Given the description of an element on the screen output the (x, y) to click on. 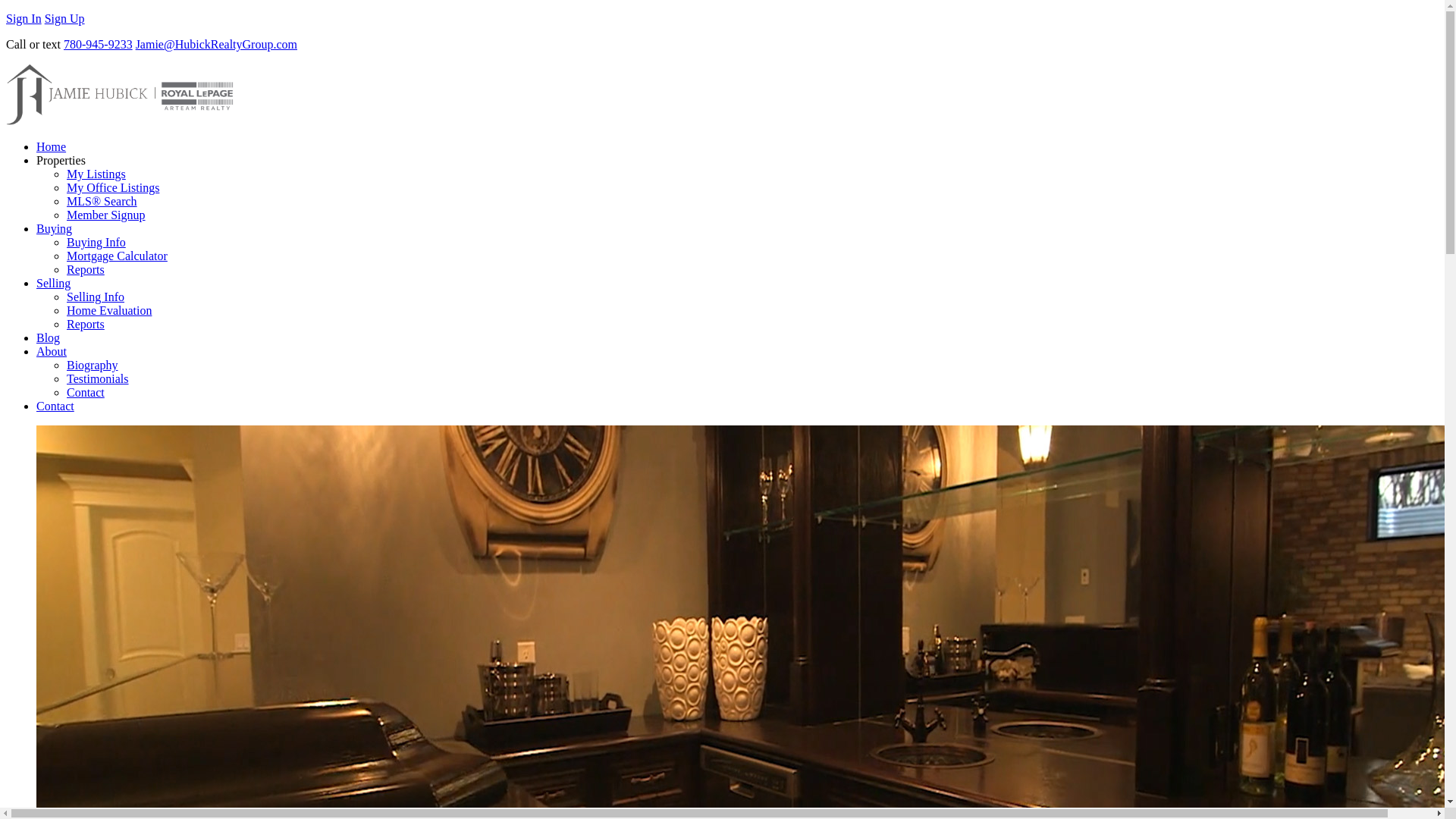
Home Evaluation (108, 309)
My Listings (95, 173)
Properties (60, 160)
Home (50, 146)
Reports (85, 269)
Contact (85, 391)
My Office Listings (112, 187)
780-945-9233 (98, 43)
About (51, 350)
Buying (53, 228)
Sign Up (64, 18)
Testimonials (97, 378)
Selling Info (94, 296)
Buying Info (95, 241)
Biography (91, 364)
